Given the description of an element on the screen output the (x, y) to click on. 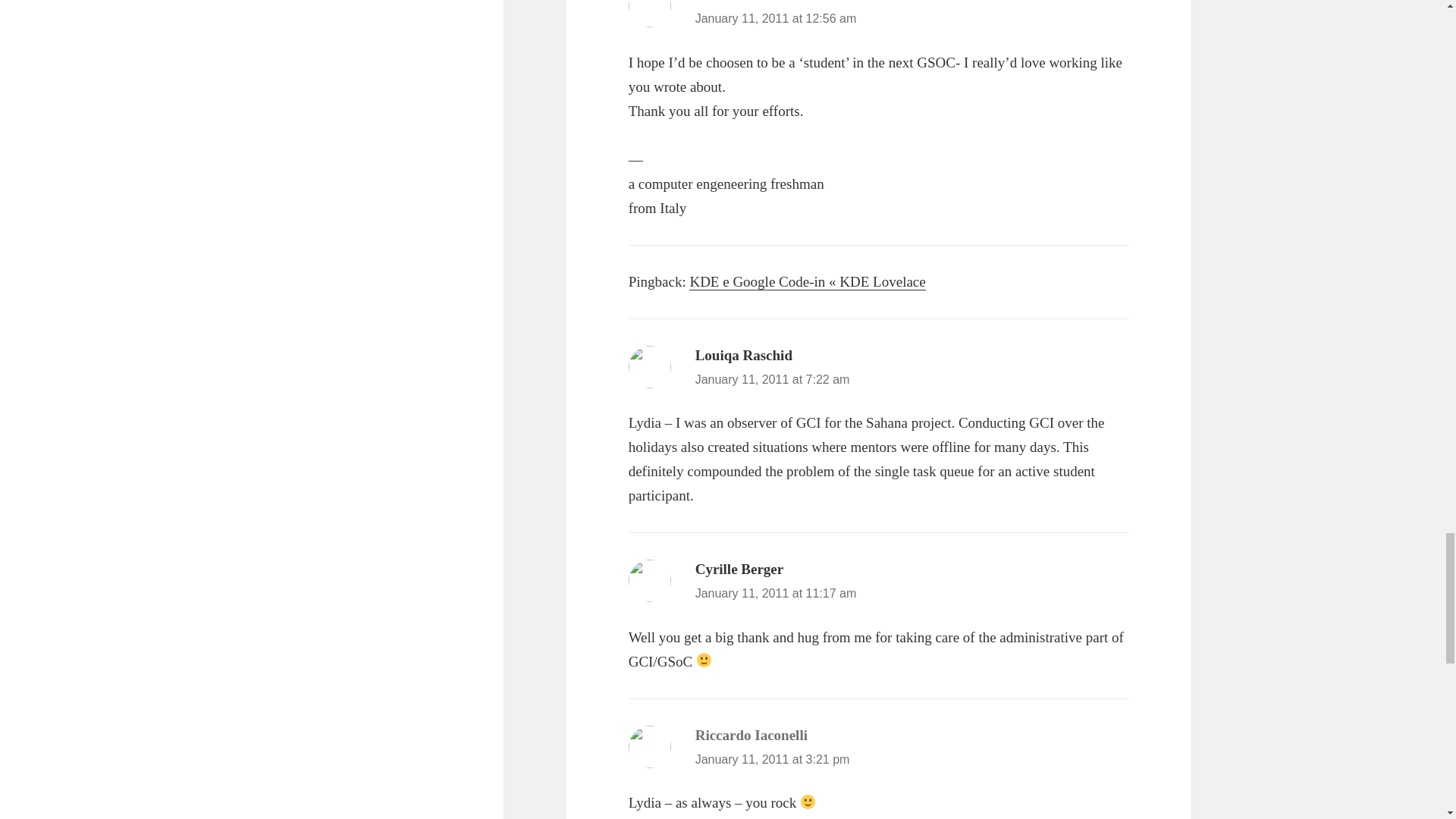
January 11, 2011 at 12:56 am (776, 18)
January 11, 2011 at 3:21 pm (772, 758)
January 11, 2011 at 11:17 am (776, 593)
Cyrille Berger (739, 569)
January 11, 2011 at 7:22 am (772, 379)
Louiqa Raschid (743, 355)
